Given the description of an element on the screen output the (x, y) to click on. 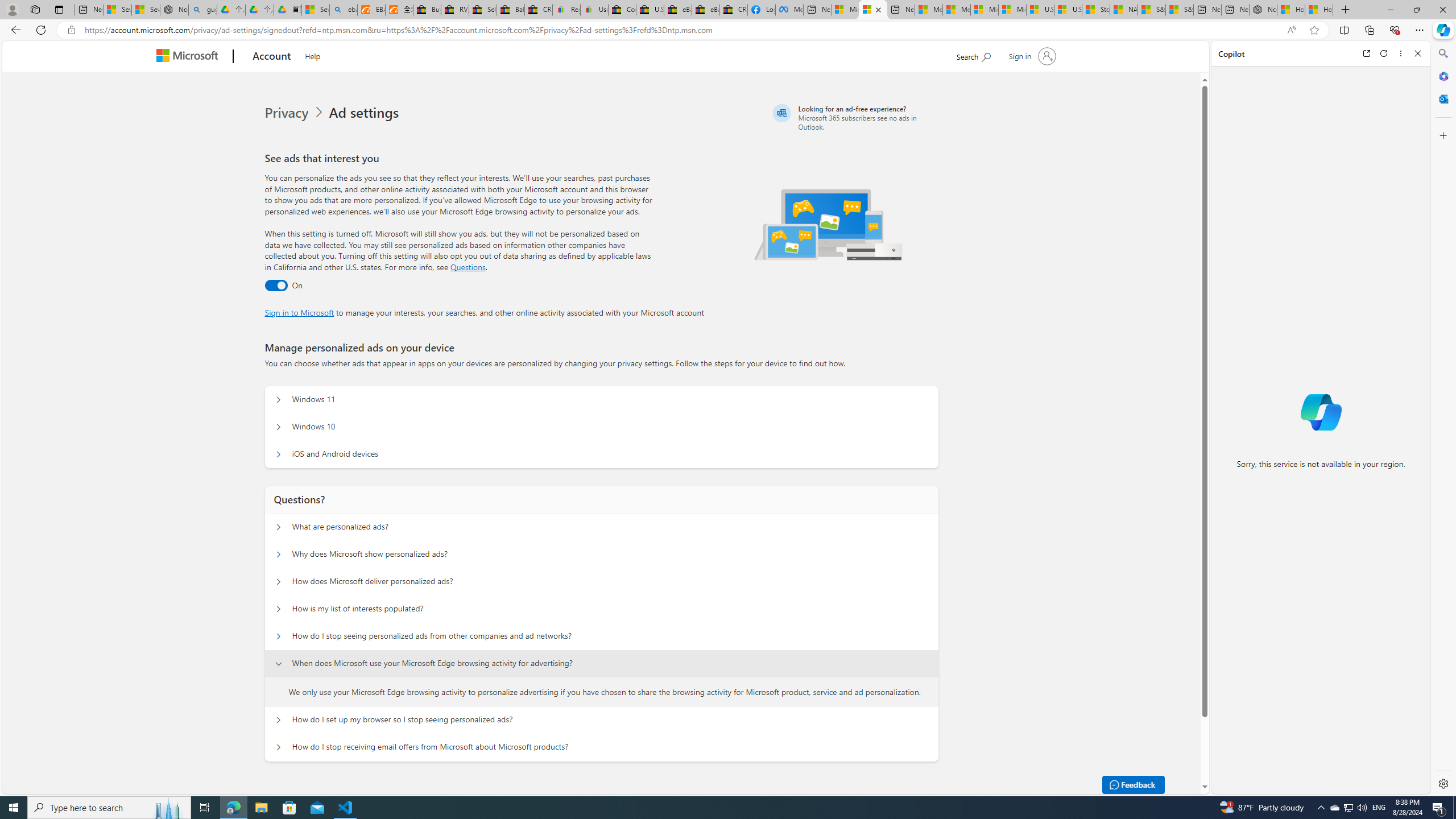
Sign in to your account (1031, 55)
Microsoft (189, 56)
Log into Facebook (761, 9)
eBay Inc. Reports Third Quarter 2023 Results (706, 9)
